Given the description of an element on the screen output the (x, y) to click on. 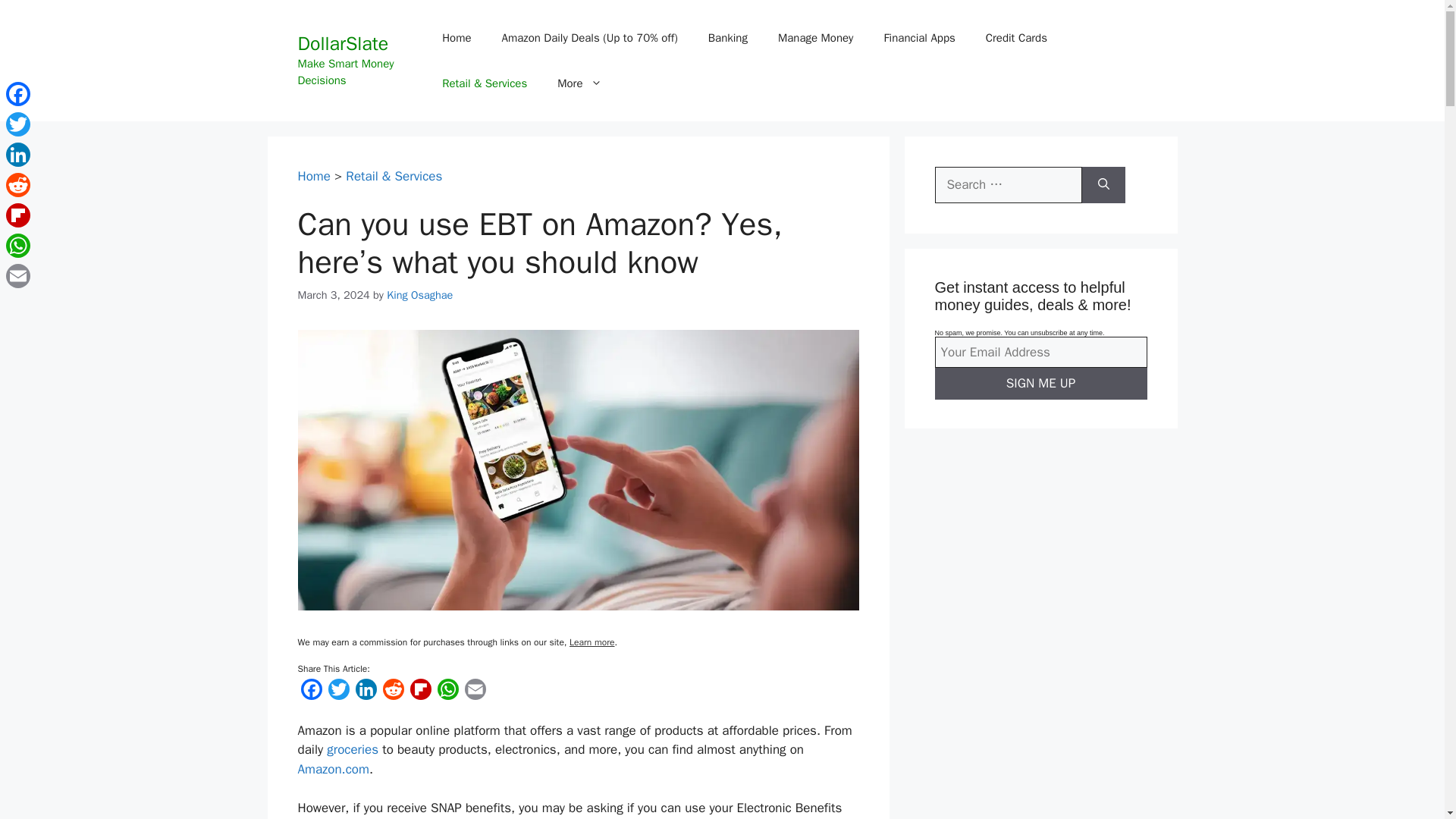
groceries (352, 749)
Financial Apps (918, 37)
Twitter (338, 692)
Reddit (392, 692)
Home (456, 37)
Home (313, 176)
Learn more (591, 642)
Facebook (310, 692)
Flipboard (419, 692)
